Given the description of an element on the screen output the (x, y) to click on. 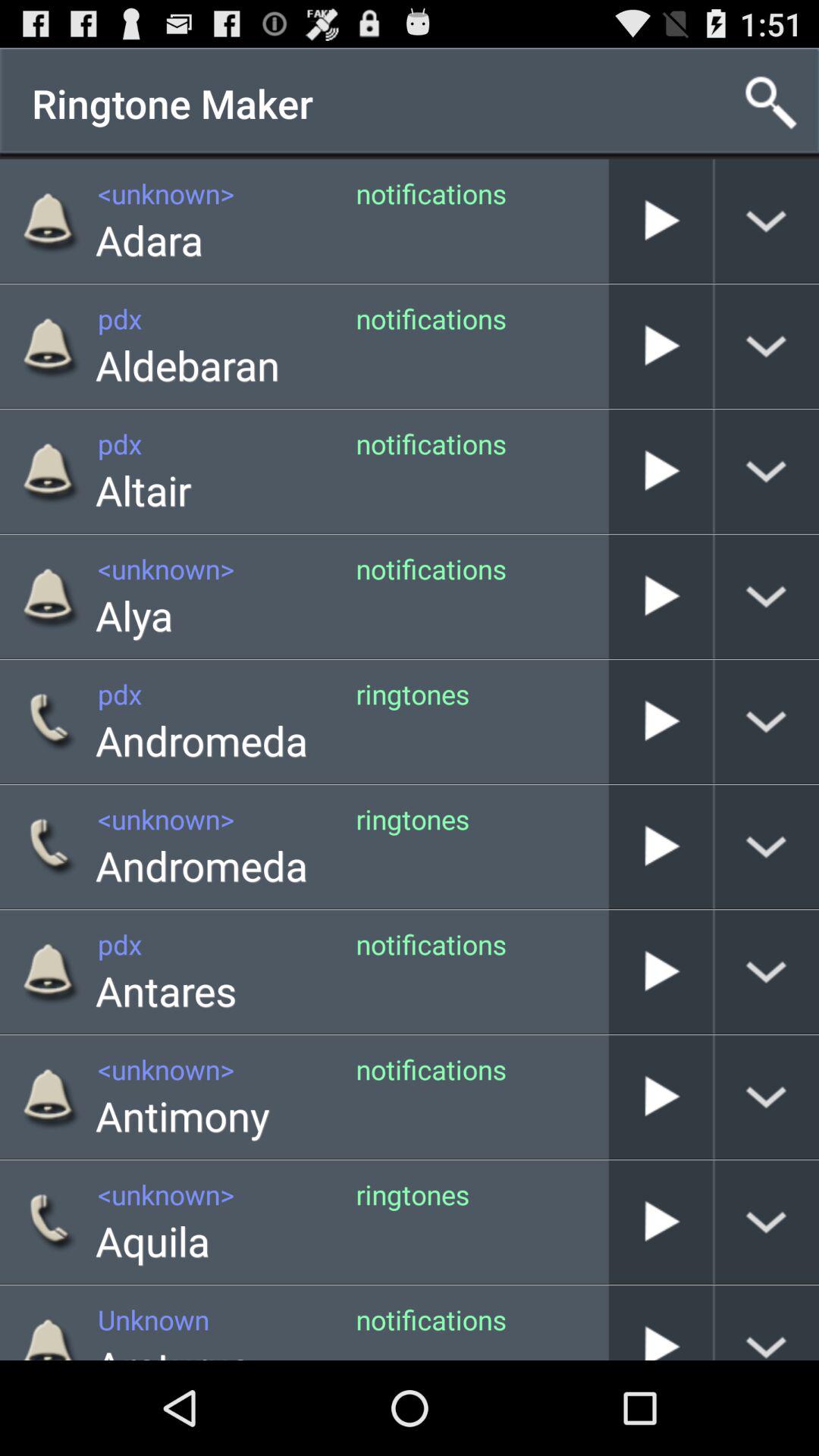
launch icon next to the notifications icon (608, 596)
